Given the description of an element on the screen output the (x, y) to click on. 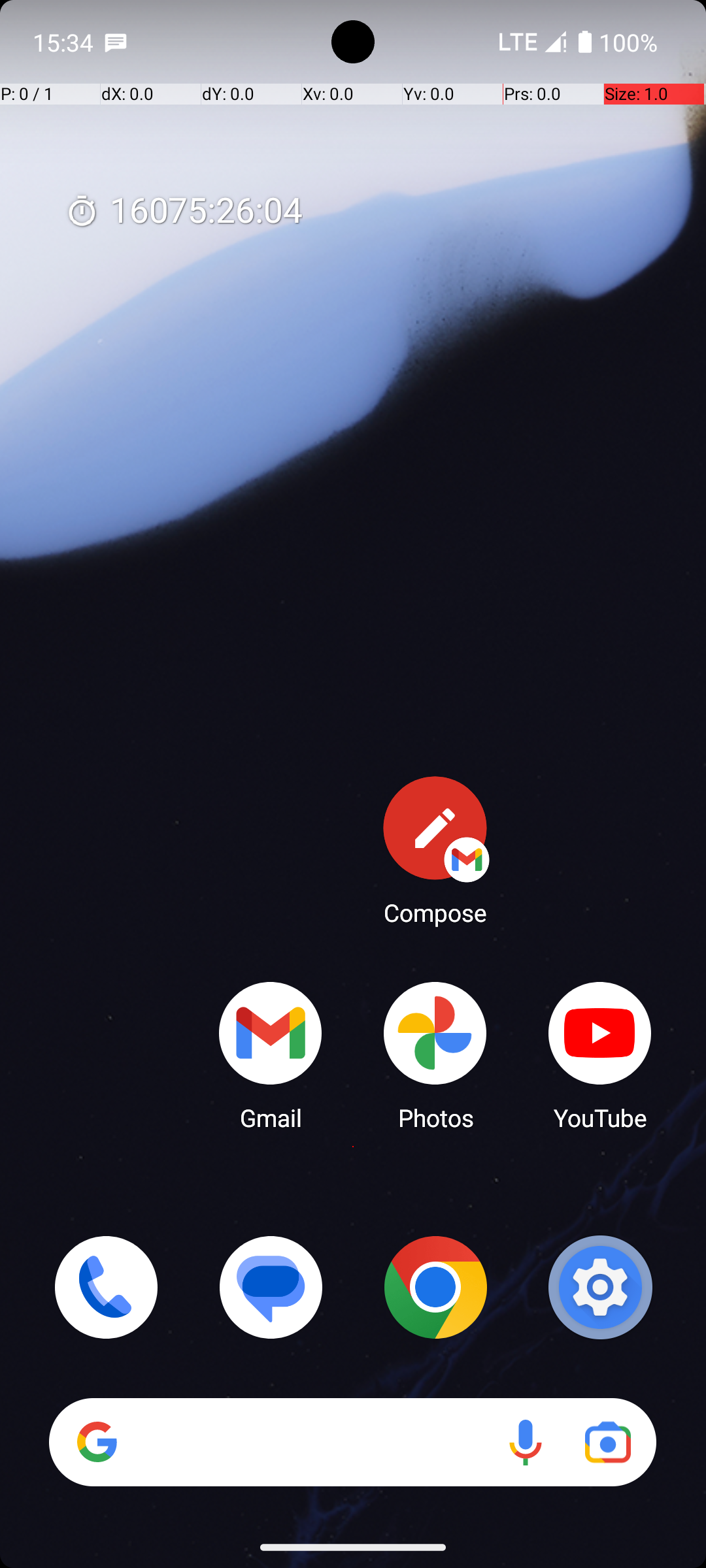
16075:26:04 Element type: android.widget.TextView (183, 210)
